Given the description of an element on the screen output the (x, y) to click on. 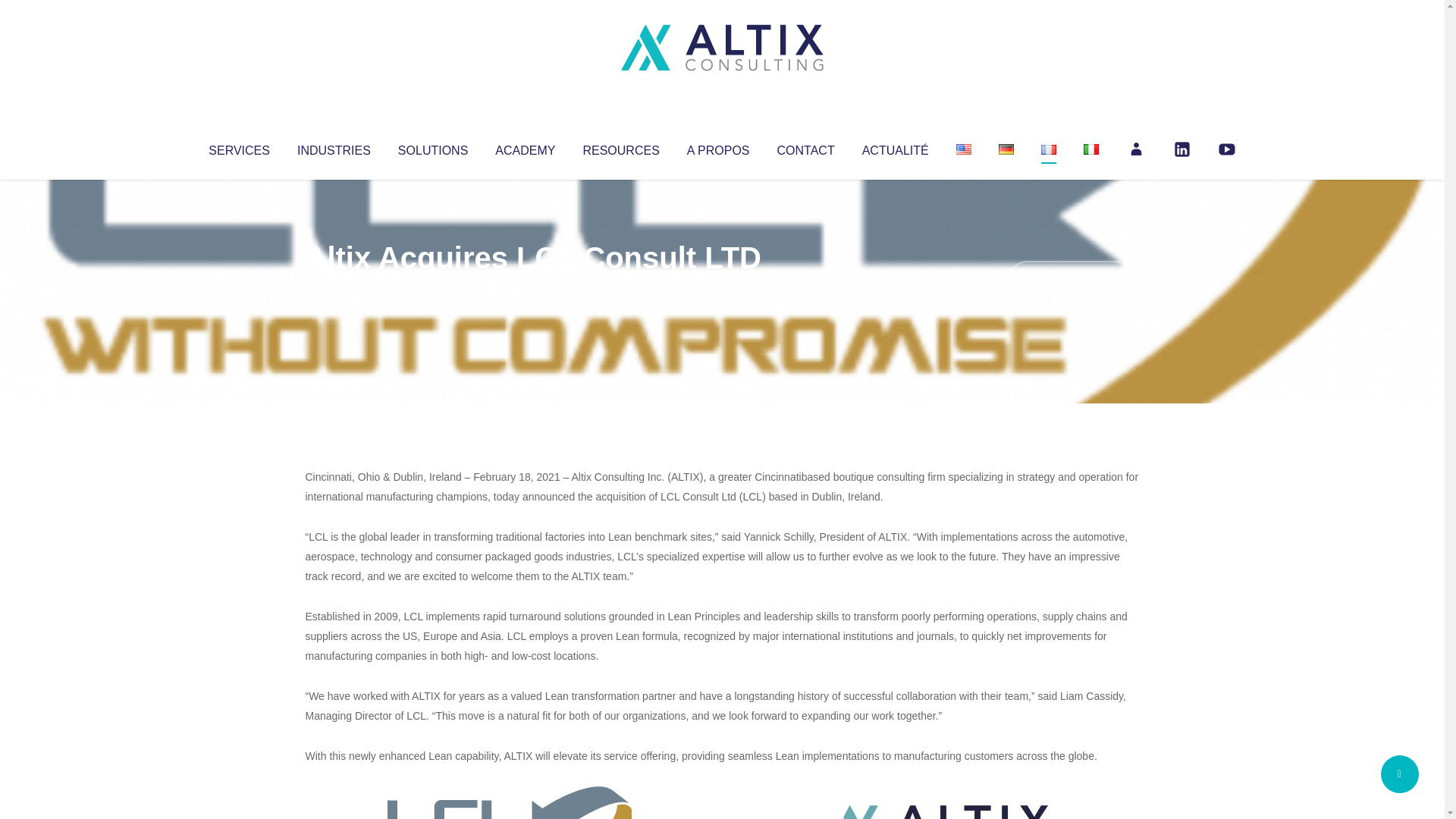
RESOURCES (620, 146)
Articles par Altix (333, 287)
INDUSTRIES (334, 146)
No Comments (1073, 278)
SERVICES (238, 146)
Uncategorized (530, 287)
SOLUTIONS (432, 146)
Altix (333, 287)
ACADEMY (524, 146)
A PROPOS (718, 146)
